Given the description of an element on the screen output the (x, y) to click on. 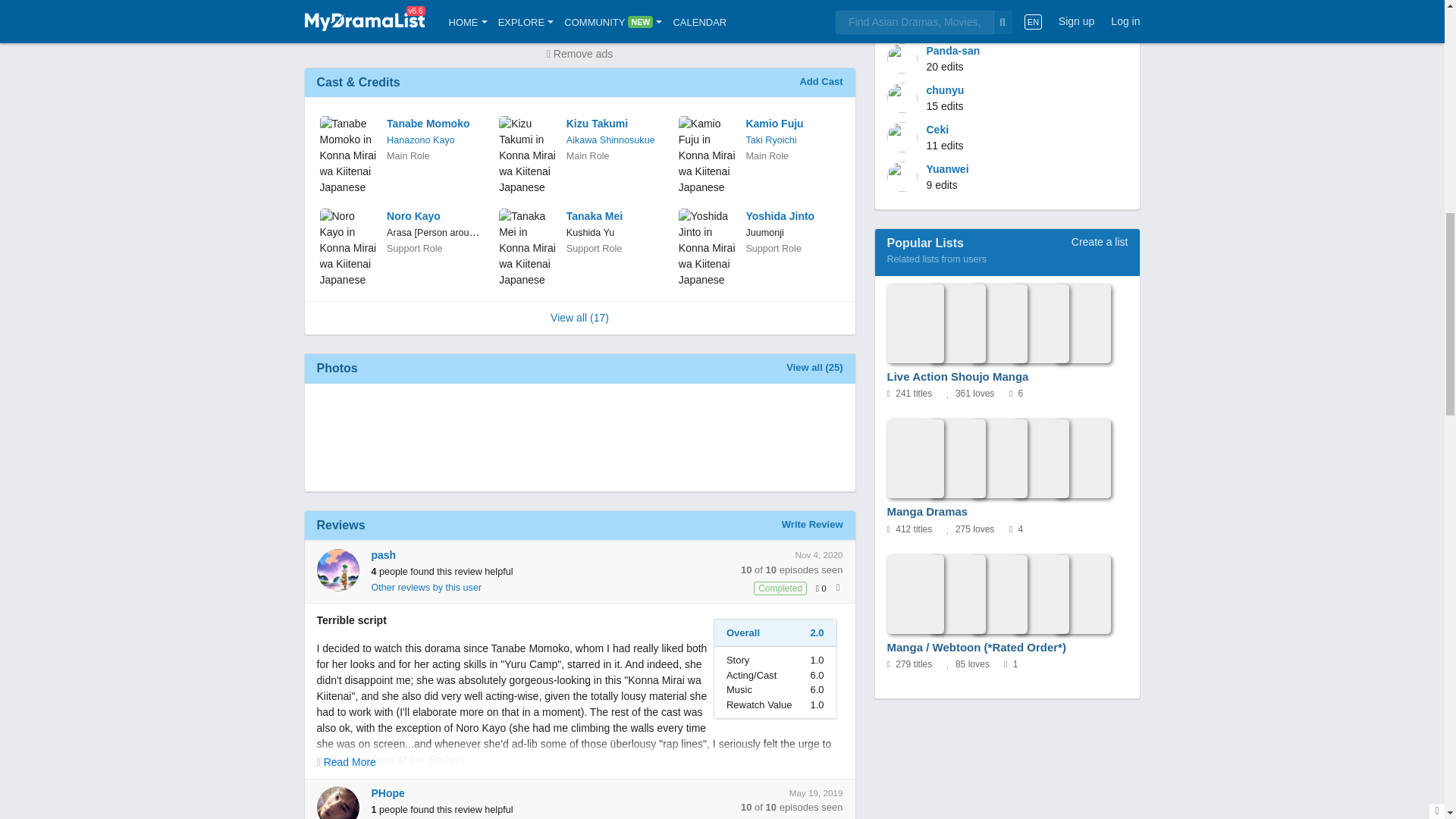
Aikawa Shinnosukue - Konna Mirai wa Kiitenai (610, 140)
Kizu Takumi (613, 123)
Kushida Yu (590, 232)
Hanazono Kayo - Konna Mirai wa Kiitenai (420, 140)
Noro Kayo (433, 216)
Kamio Fuju (792, 123)
Tanaka Mei (613, 216)
Taki Ryoichi - Konna Mirai wa Kiitenai (770, 140)
Tanabe Momoko (433, 123)
